Given the description of an element on the screen output the (x, y) to click on. 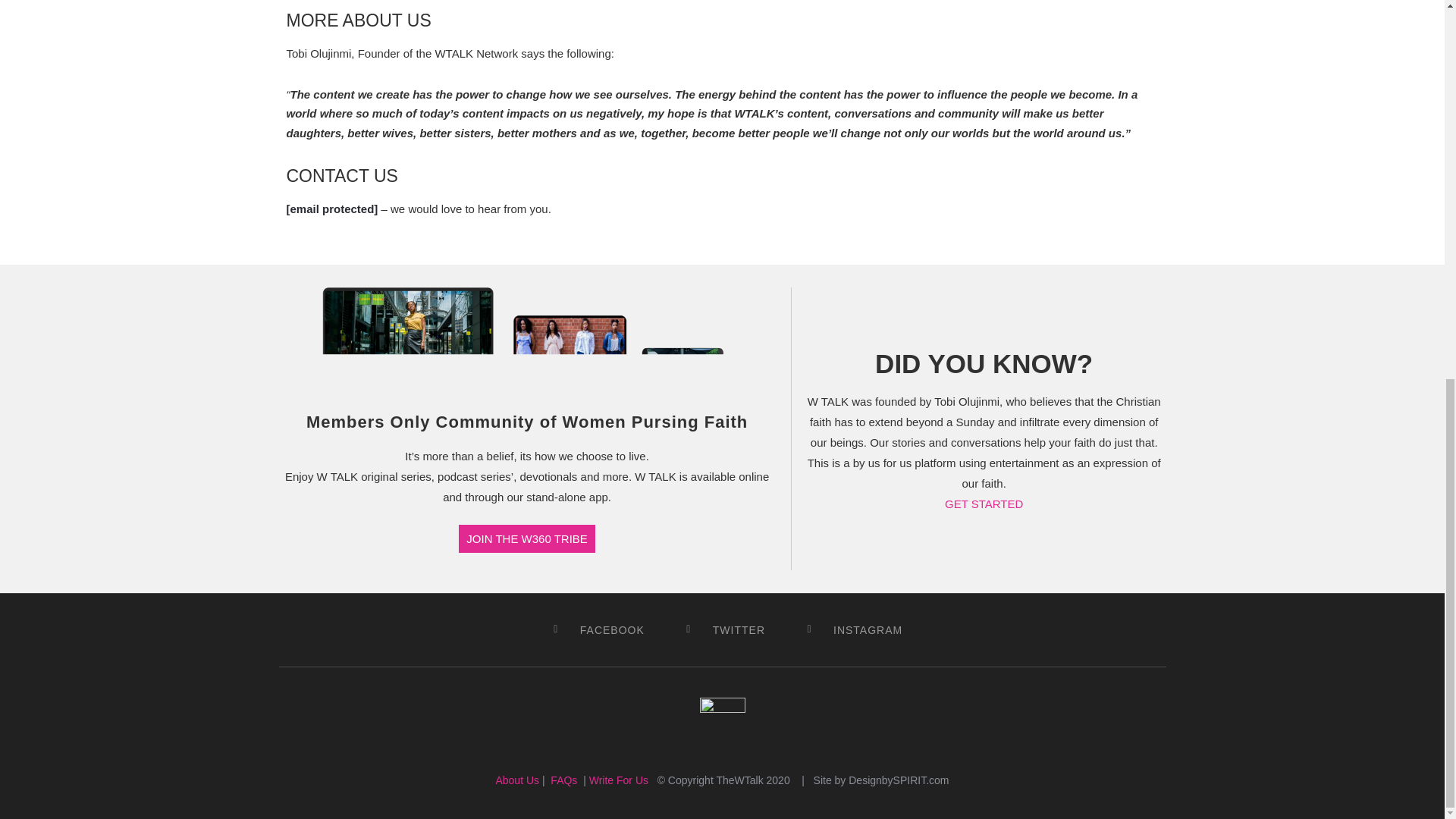
INSTAGRAM (848, 629)
FACEBOOK (593, 629)
About Us (516, 779)
GET STARTED (983, 503)
Write For Us (618, 779)
JOIN THE W360 TRIBE (526, 538)
TWITTER (720, 629)
FAQs (563, 779)
